Given the description of an element on the screen output the (x, y) to click on. 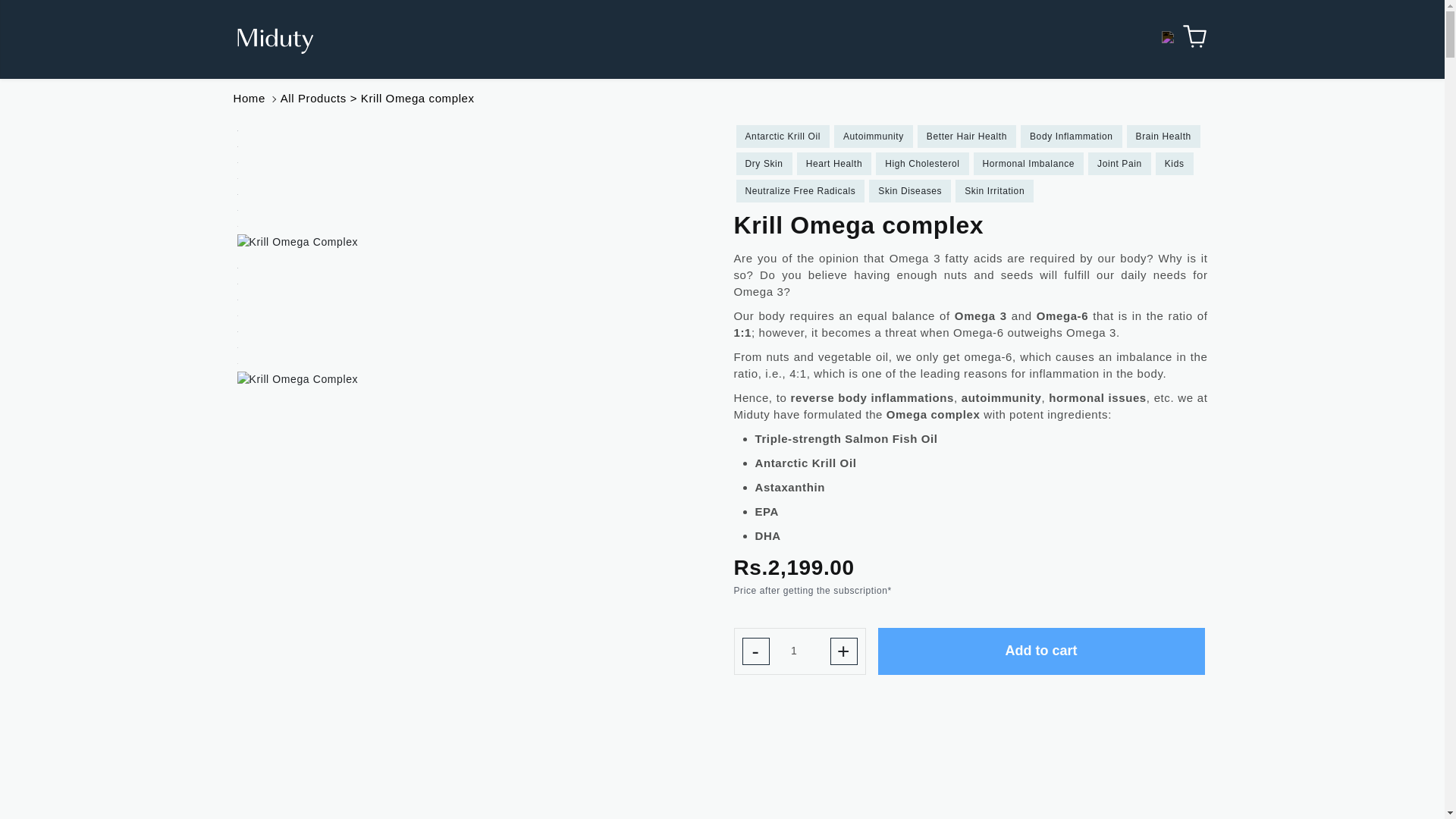
Home (248, 97)
Miduty (274, 40)
Add to cart (1041, 651)
Skip to content (45, 17)
1 (798, 650)
Krill Omega complex (417, 97)
